Given the description of an element on the screen output the (x, y) to click on. 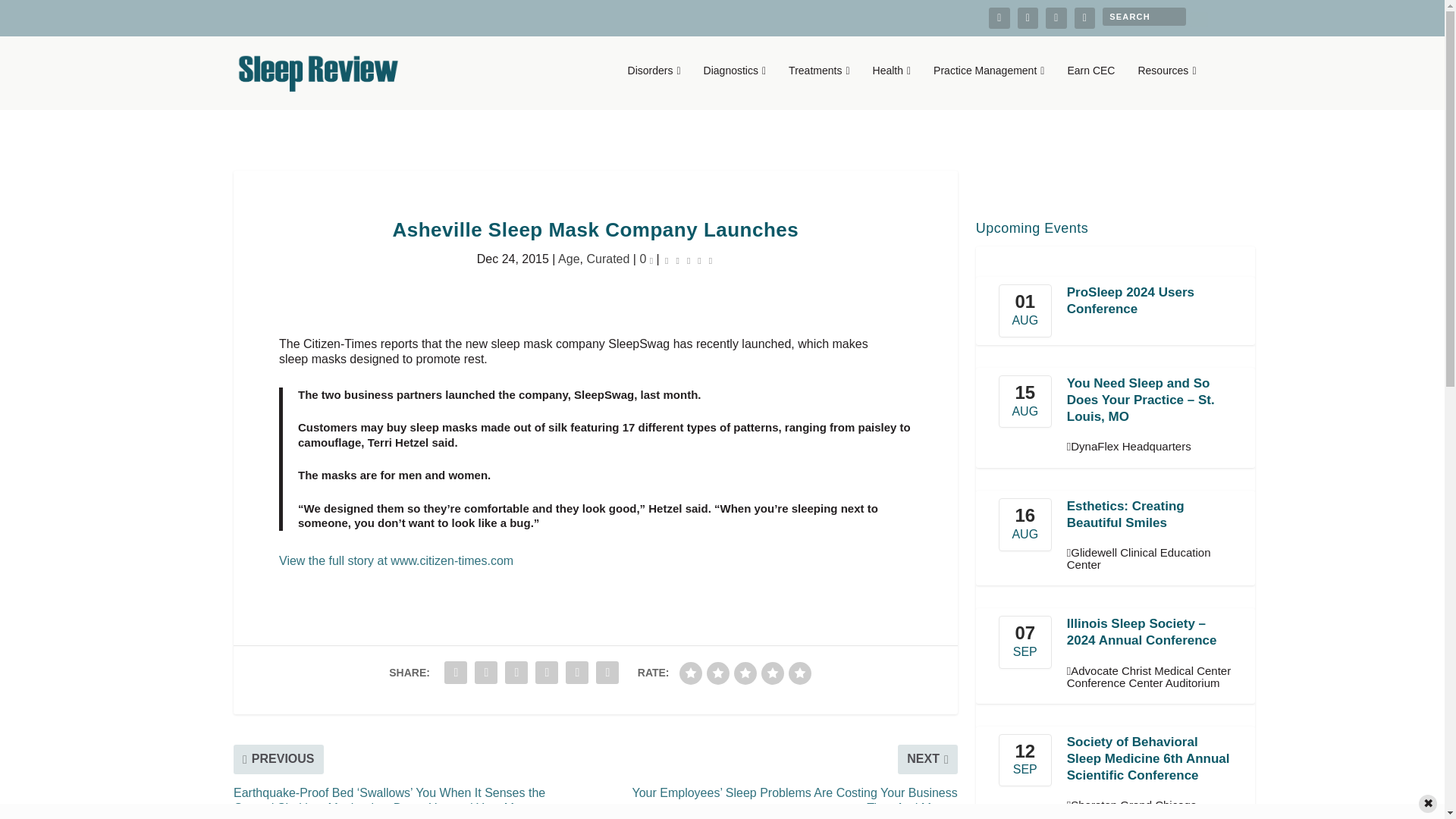
regular (745, 672)
Diagnostics (735, 86)
Share "Asheville Sleep Mask Company Launches" via Email (577, 672)
Share "Asheville Sleep Mask Company Launches" via Print (607, 672)
gorgeous (799, 672)
Share "Asheville Sleep Mask Company Launches" via Twitter (485, 672)
Share "Asheville Sleep Mask Company Launches" via Facebook (455, 672)
Search for: (1144, 16)
poor (717, 672)
Practice Management (988, 86)
Disorders (654, 86)
Rating: 0.00 (688, 259)
Treatments (818, 86)
bad (690, 672)
Share "Asheville Sleep Mask Company Launches" via LinkedIn (546, 672)
